Given the description of an element on the screen output the (x, y) to click on. 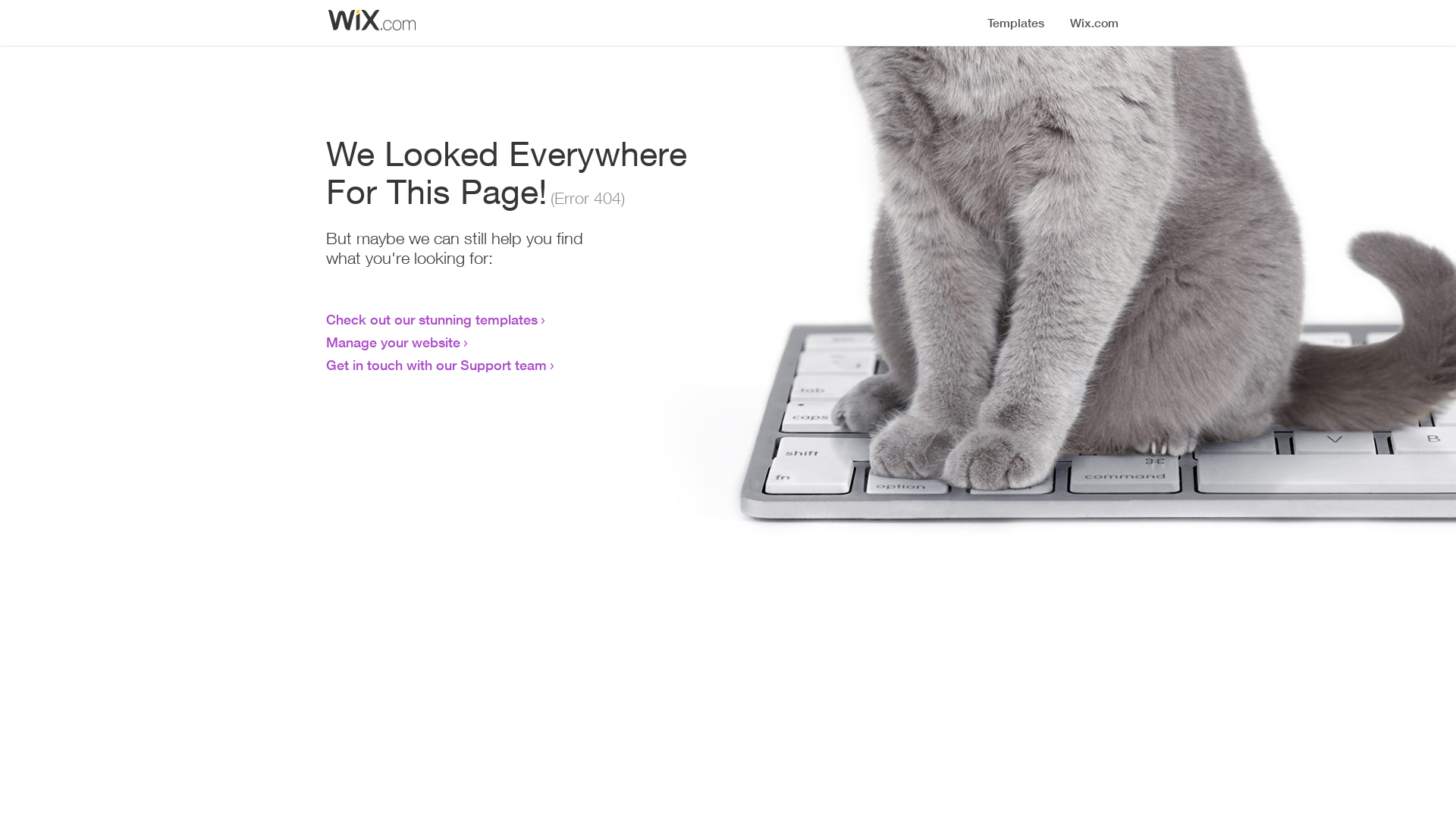
Check out our stunning templates Element type: text (431, 318)
Get in touch with our Support team Element type: text (436, 364)
Manage your website Element type: text (393, 341)
